Given the description of an element on the screen output the (x, y) to click on. 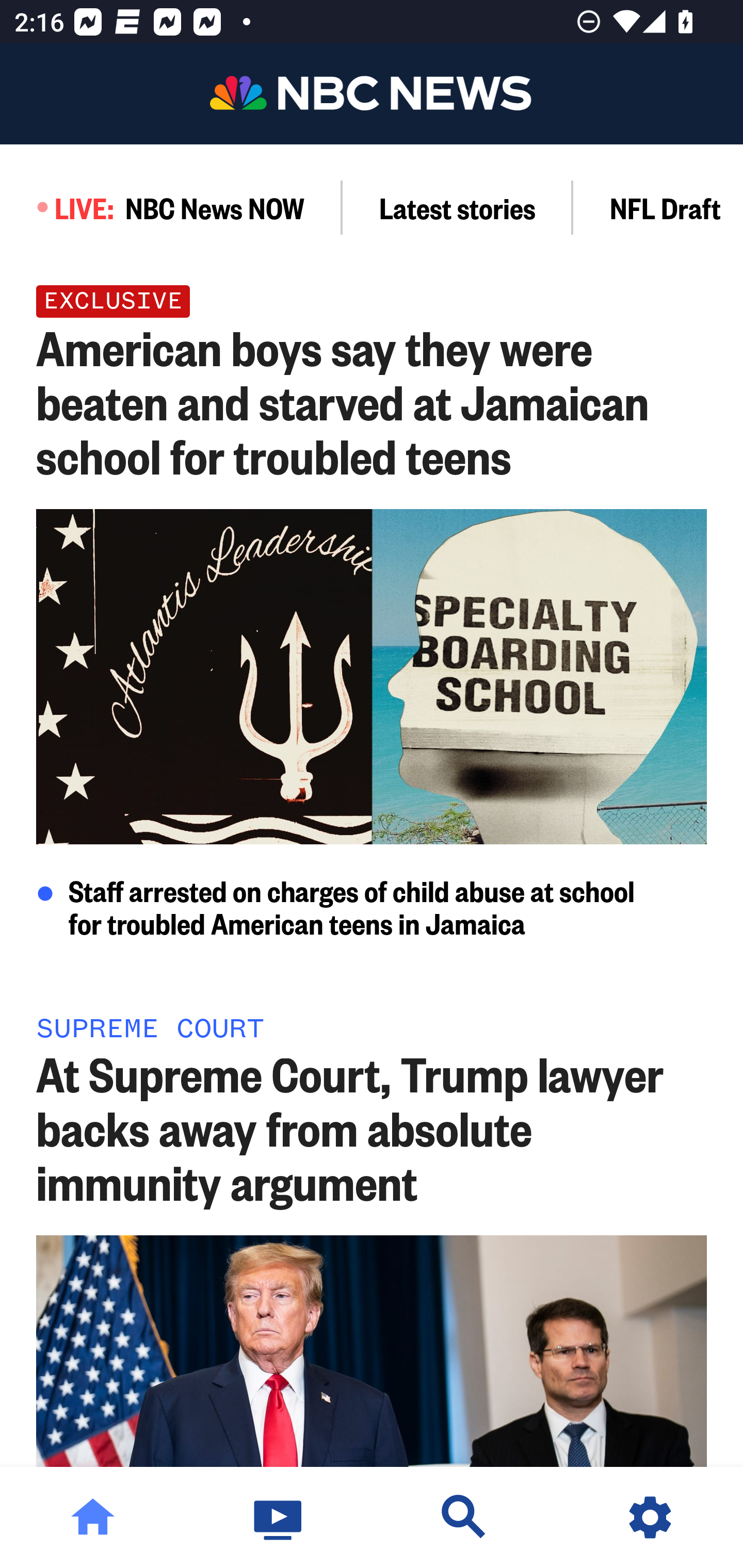
LIVE:  NBC News NOW (171, 207)
Latest stories Section,Latest stories (457, 207)
NFL Draft (658, 207)
Watch (278, 1517)
Discover (464, 1517)
Settings (650, 1517)
